Given the description of an element on the screen output the (x, y) to click on. 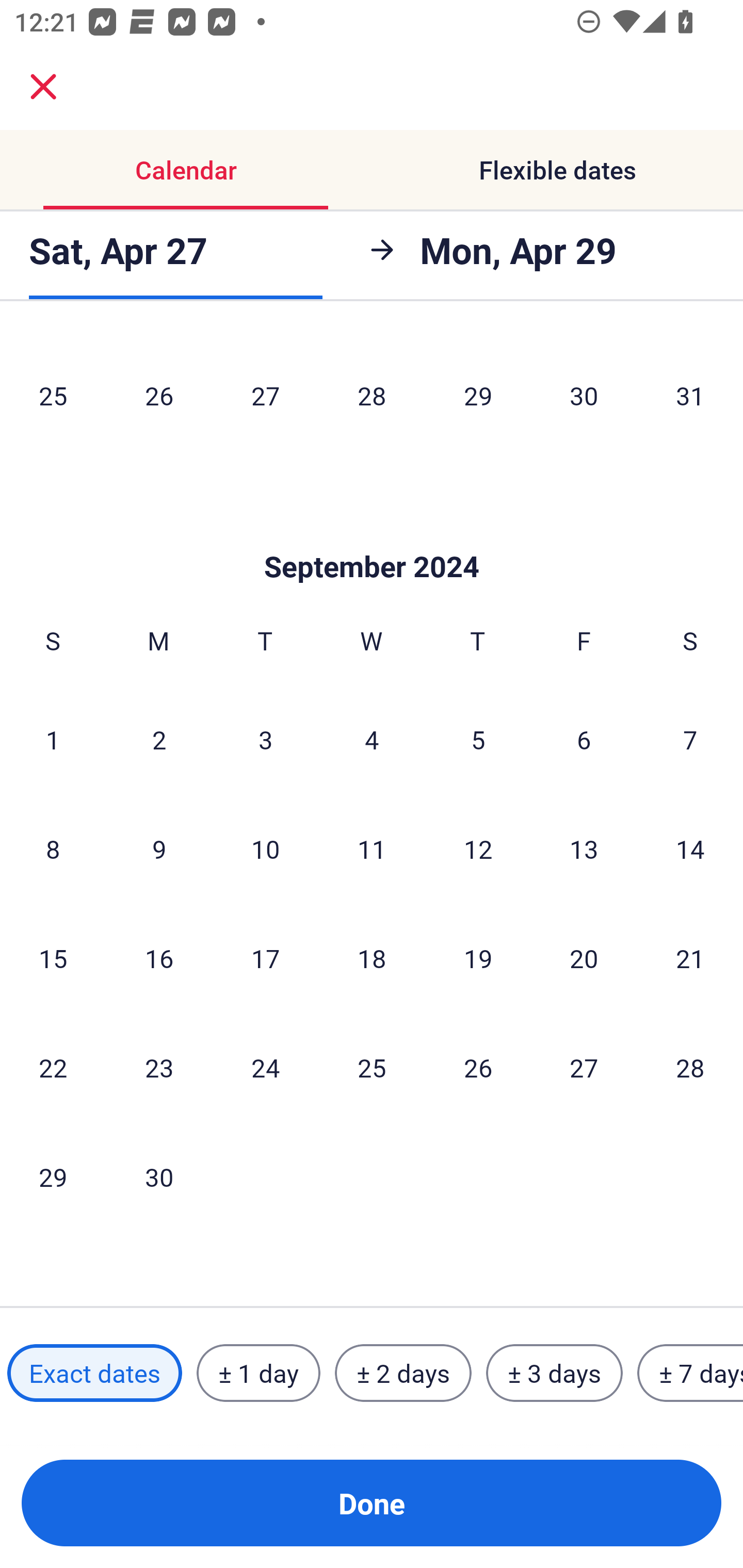
close. (43, 86)
Flexible dates (557, 170)
25 Sunday, August 25, 2024 (53, 394)
26 Monday, August 26, 2024 (159, 394)
27 Tuesday, August 27, 2024 (265, 394)
28 Wednesday, August 28, 2024 (371, 394)
29 Thursday, August 29, 2024 (477, 394)
30 Friday, August 30, 2024 (584, 394)
31 Saturday, August 31, 2024 (690, 394)
Skip to Done (371, 535)
1 Sunday, September 1, 2024 (53, 738)
2 Monday, September 2, 2024 (159, 738)
3 Tuesday, September 3, 2024 (265, 738)
4 Wednesday, September 4, 2024 (371, 738)
5 Thursday, September 5, 2024 (477, 738)
6 Friday, September 6, 2024 (584, 738)
7 Saturday, September 7, 2024 (690, 738)
8 Sunday, September 8, 2024 (53, 848)
9 Monday, September 9, 2024 (159, 848)
10 Tuesday, September 10, 2024 (265, 848)
11 Wednesday, September 11, 2024 (371, 848)
12 Thursday, September 12, 2024 (477, 848)
13 Friday, September 13, 2024 (584, 848)
14 Saturday, September 14, 2024 (690, 848)
15 Sunday, September 15, 2024 (53, 957)
16 Monday, September 16, 2024 (159, 957)
17 Tuesday, September 17, 2024 (265, 957)
18 Wednesday, September 18, 2024 (371, 957)
19 Thursday, September 19, 2024 (477, 957)
20 Friday, September 20, 2024 (584, 957)
21 Saturday, September 21, 2024 (690, 957)
22 Sunday, September 22, 2024 (53, 1066)
23 Monday, September 23, 2024 (159, 1066)
24 Tuesday, September 24, 2024 (265, 1066)
25 Wednesday, September 25, 2024 (371, 1066)
26 Thursday, September 26, 2024 (477, 1066)
27 Friday, September 27, 2024 (584, 1066)
28 Saturday, September 28, 2024 (690, 1066)
29 Sunday, September 29, 2024 (53, 1176)
30 Monday, September 30, 2024 (159, 1176)
Exact dates (94, 1372)
± 1 day (258, 1372)
± 2 days (403, 1372)
± 3 days (553, 1372)
± 7 days (690, 1372)
Done (371, 1502)
